Given the description of an element on the screen output the (x, y) to click on. 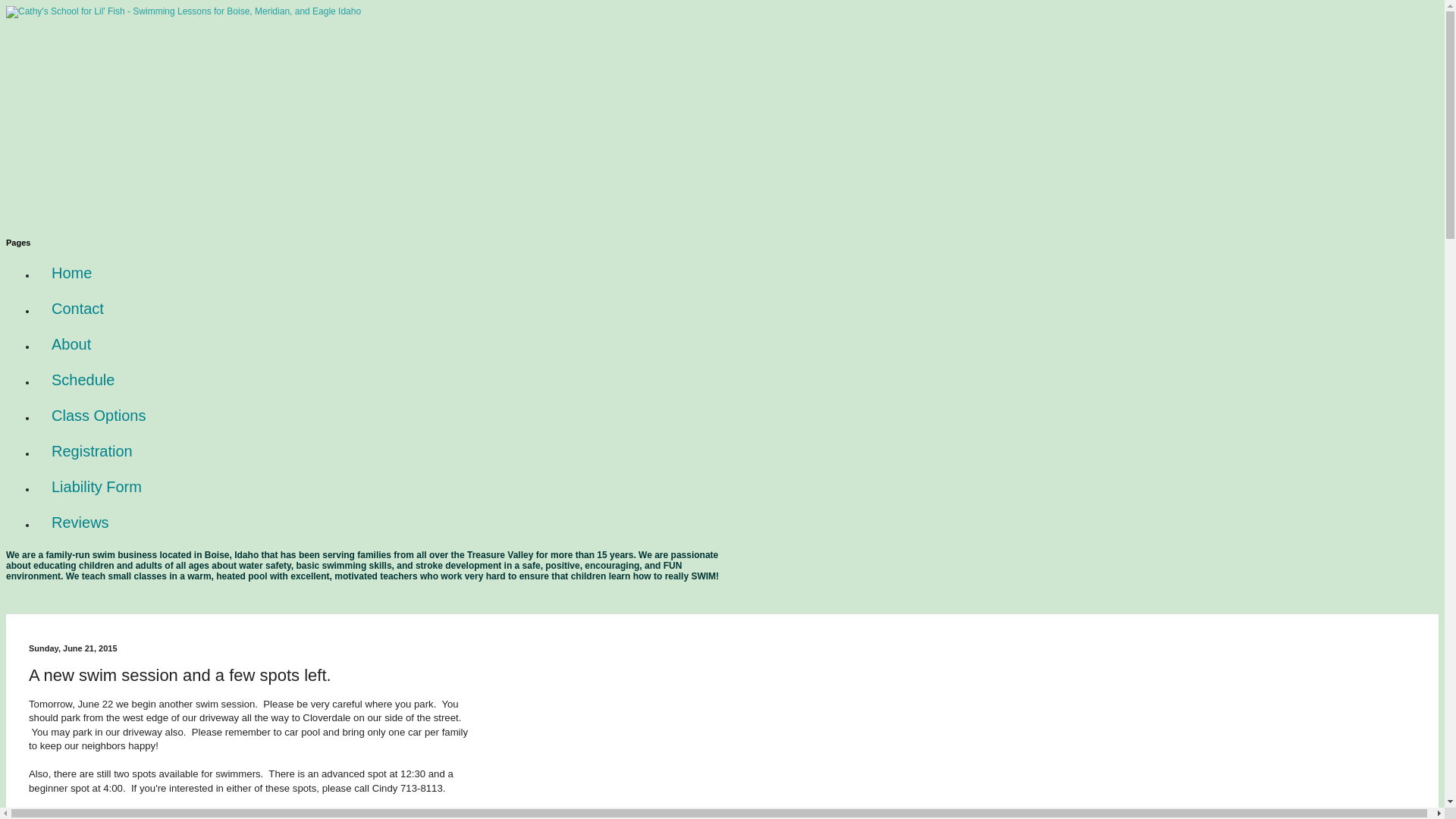
Liability Form (96, 487)
Class Options (98, 416)
Registration (92, 451)
Home (71, 273)
Schedule (82, 380)
About (71, 344)
Reviews (79, 522)
Contact (77, 308)
